Given the description of an element on the screen output the (x, y) to click on. 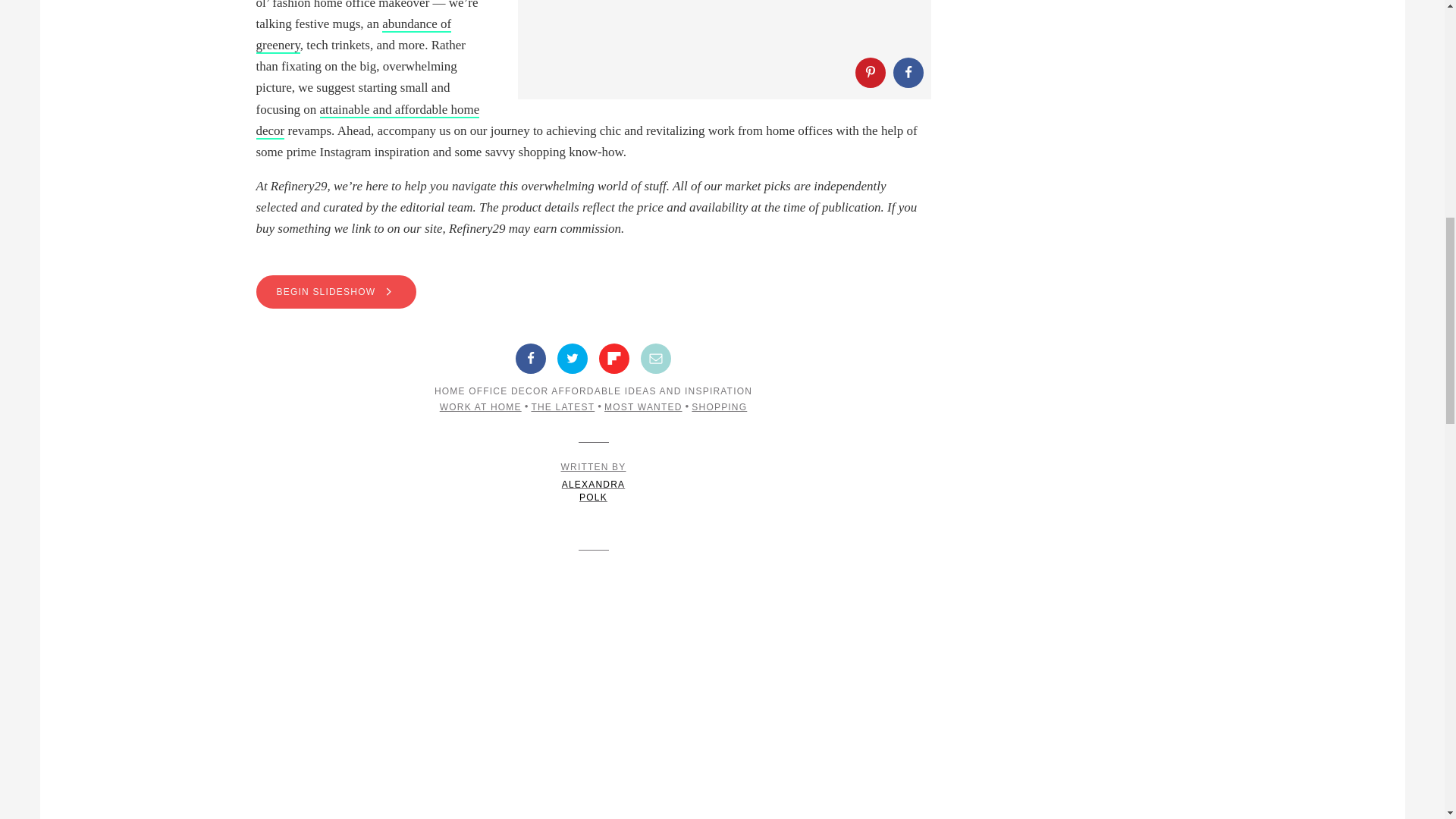
Share on Flipboard (613, 358)
WORK AT HOME (480, 407)
Share by Email (655, 358)
BEGIN SLIDESHOW (593, 291)
THE LATEST (562, 407)
abundance of greenery (353, 35)
BEGIN SLIDESHOW (336, 291)
Share on Twitter (572, 358)
Share on Pinterest (870, 72)
attainable and affordable home decor (368, 120)
